Given the description of an element on the screen output the (x, y) to click on. 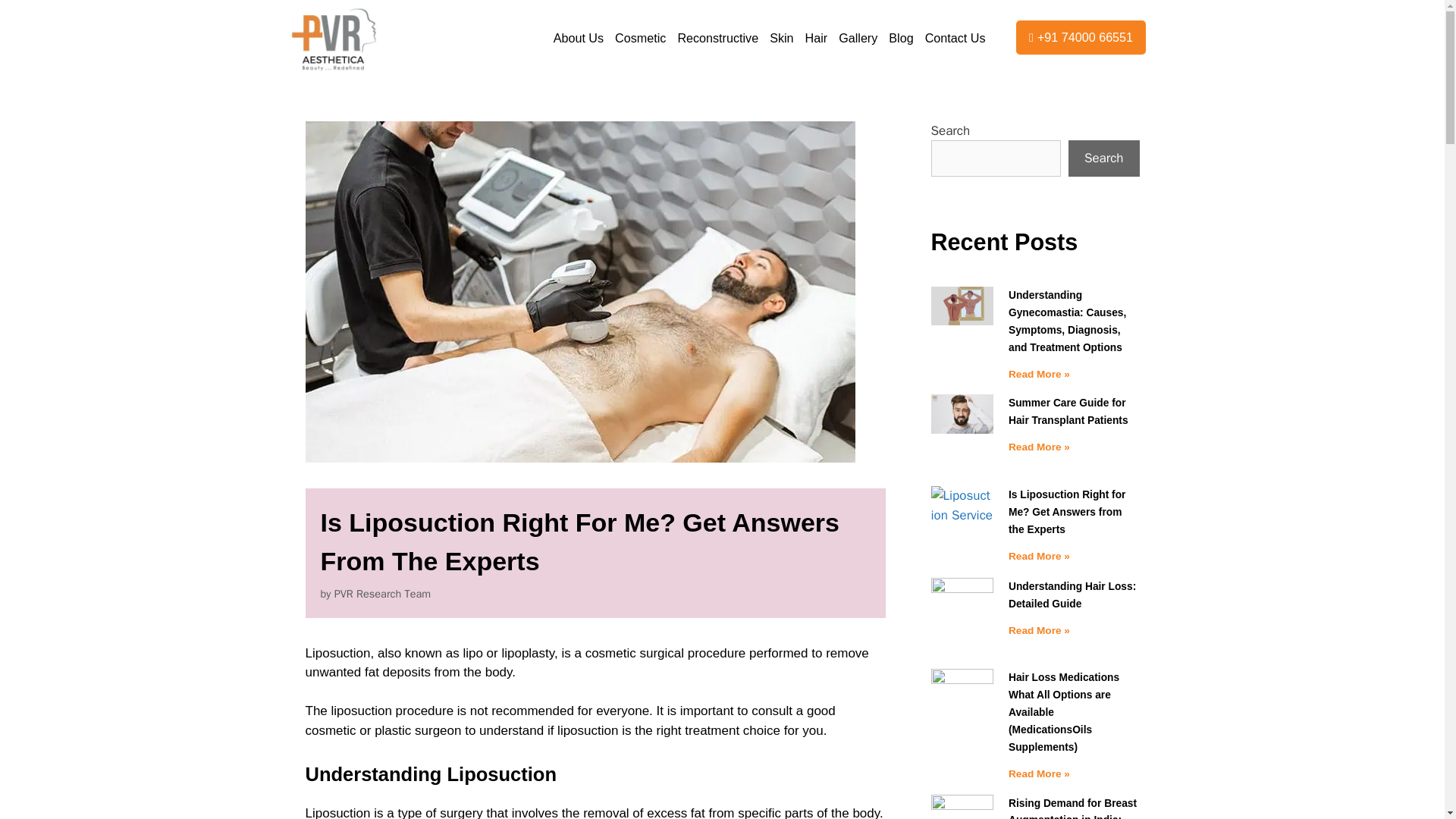
Cosmetic (640, 37)
Gallery (857, 37)
Reconstructive (716, 37)
About Us (578, 37)
Blog (901, 37)
Contact Us (955, 37)
Skin (780, 37)
View all posts by PVR Research Team (382, 593)
Hair (816, 37)
